Given the description of an element on the screen output the (x, y) to click on. 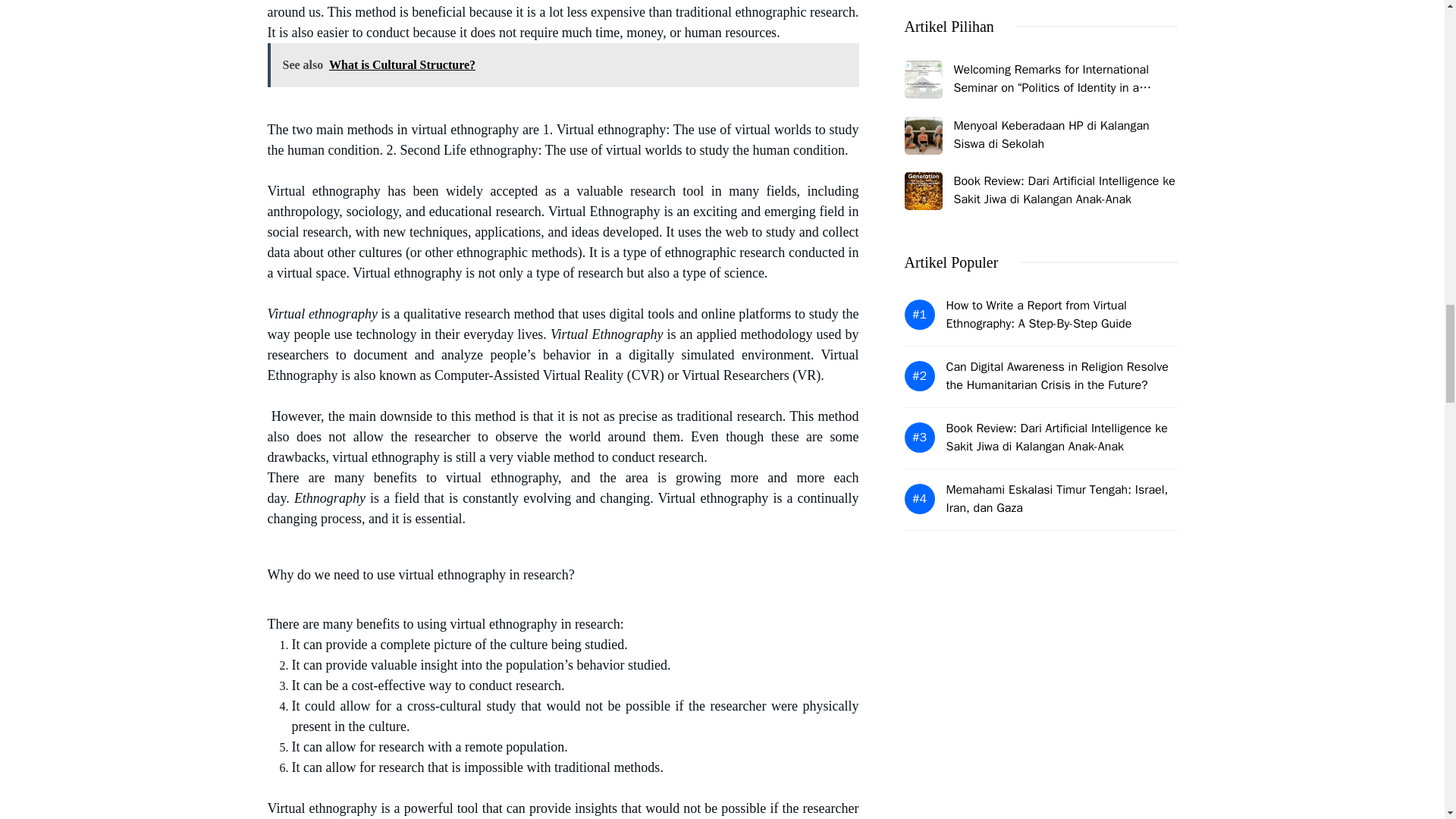
See also  What is Cultural Structure? (562, 64)
